Given the description of an element on the screen output the (x, y) to click on. 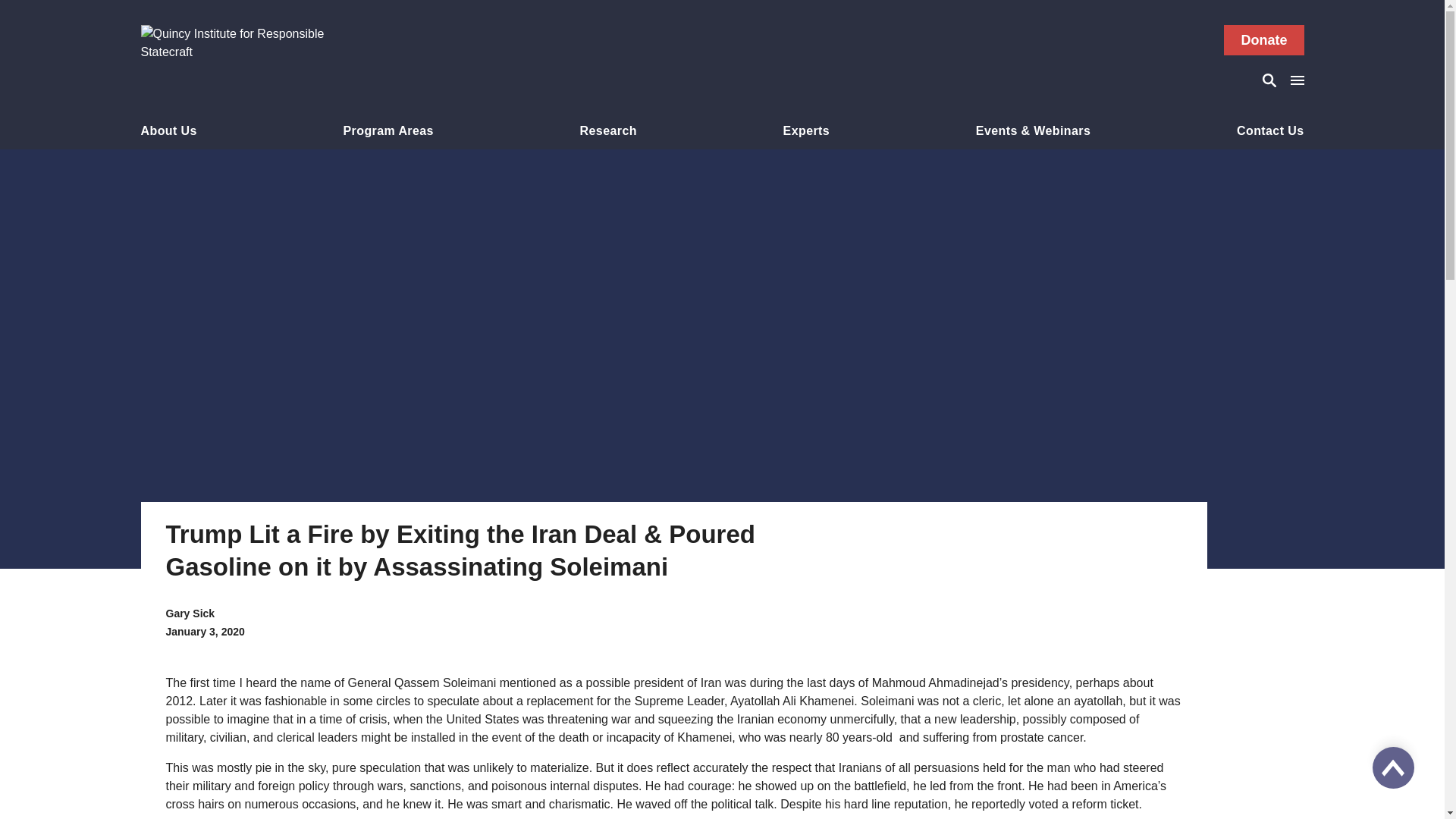
About Us (168, 133)
Democratizing Foreign Policy (388, 167)
Research (608, 133)
Posts by Gary Sick (189, 613)
Our Principles (168, 159)
Search (1270, 80)
Donate (1263, 40)
Experts (806, 133)
East Asia (388, 159)
Gary Sick (189, 613)
